Given the description of an element on the screen output the (x, y) to click on. 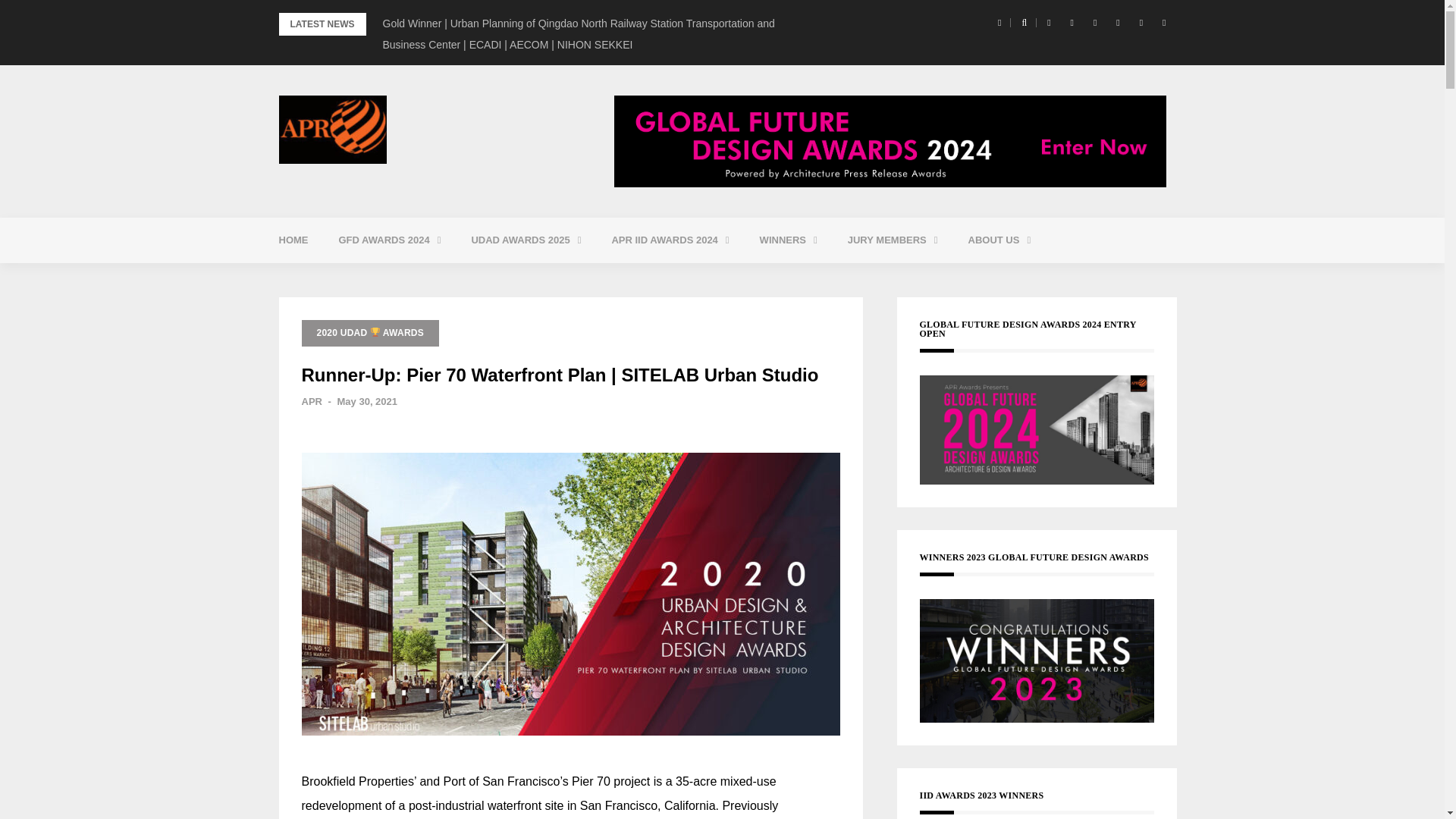
Home (293, 239)
GFD Awards Brief (425, 277)
GFD AWARDS 2024 (389, 239)
HOME (293, 239)
